Given the description of an element on the screen output the (x, y) to click on. 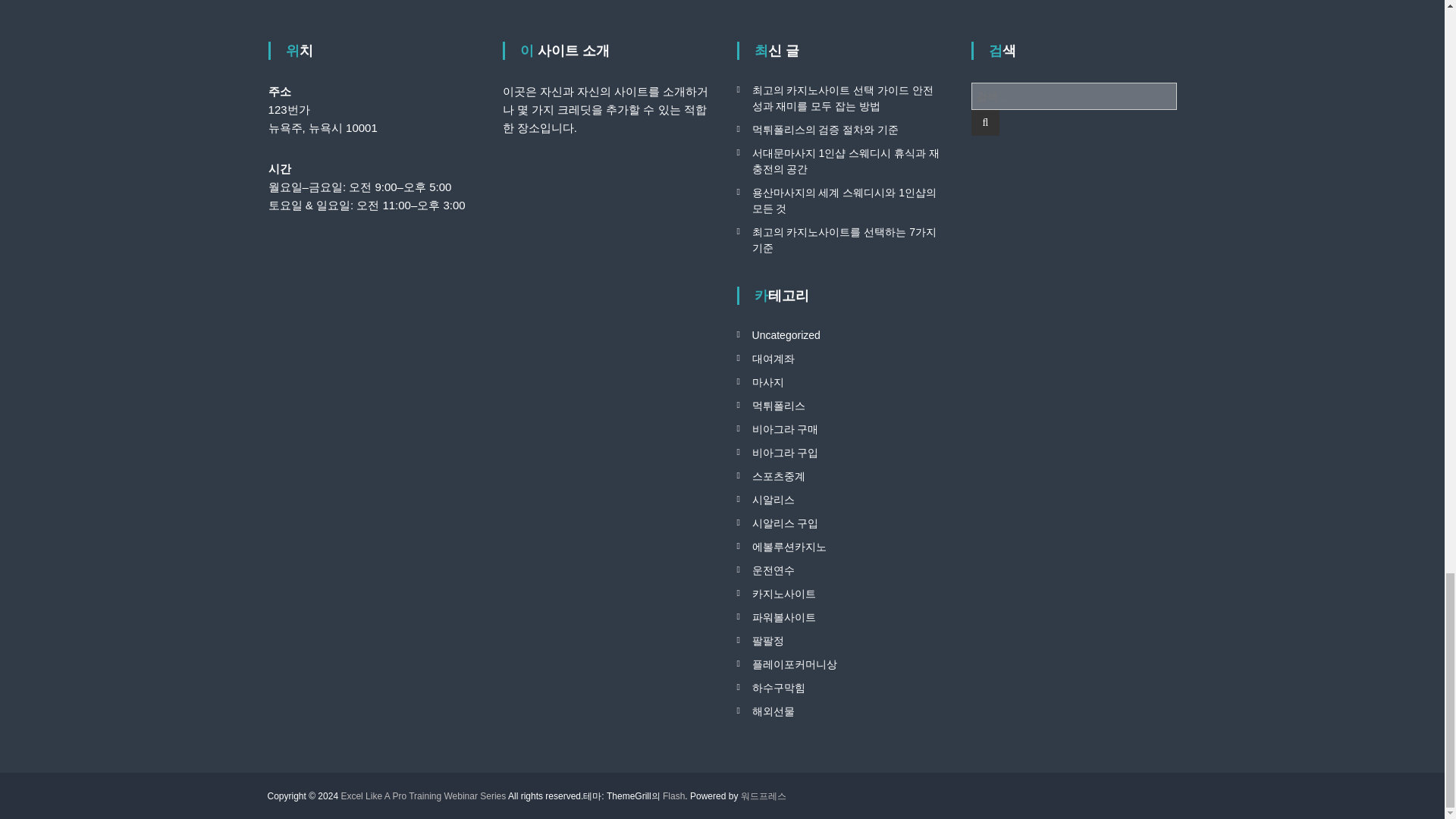
Excel Like A Pro Training Webinar Series (422, 795)
Flash (673, 795)
Uncategorized (786, 335)
